Given the description of an element on the screen output the (x, y) to click on. 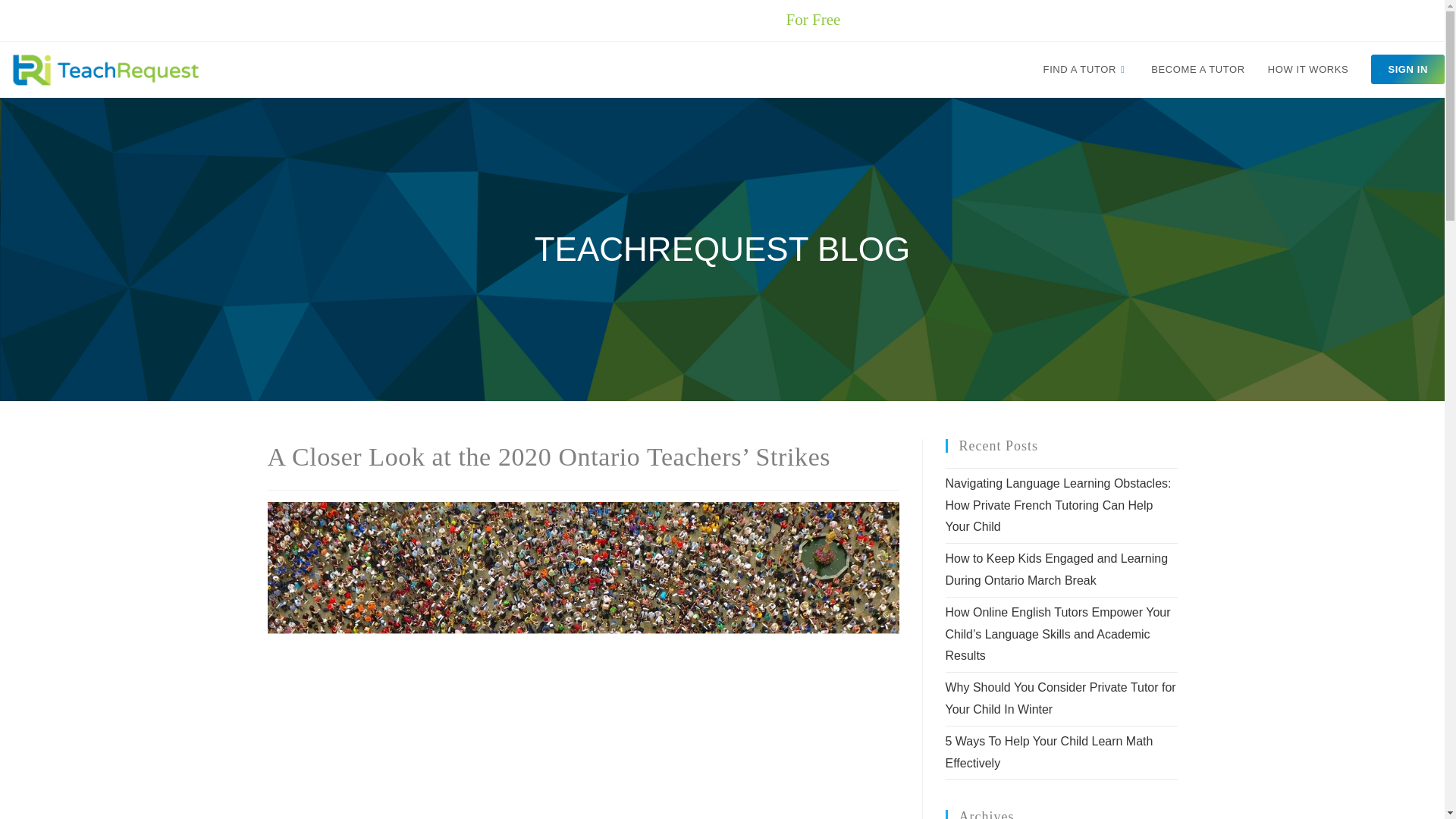
5 Ways To Help Your Child Learn Math Effectively (1048, 751)
Learn More (898, 20)
FIND A TUTOR (1086, 69)
HOW IT WORKS (722, 69)
BECOME A TUTOR (1307, 69)
